Given the description of an element on the screen output the (x, y) to click on. 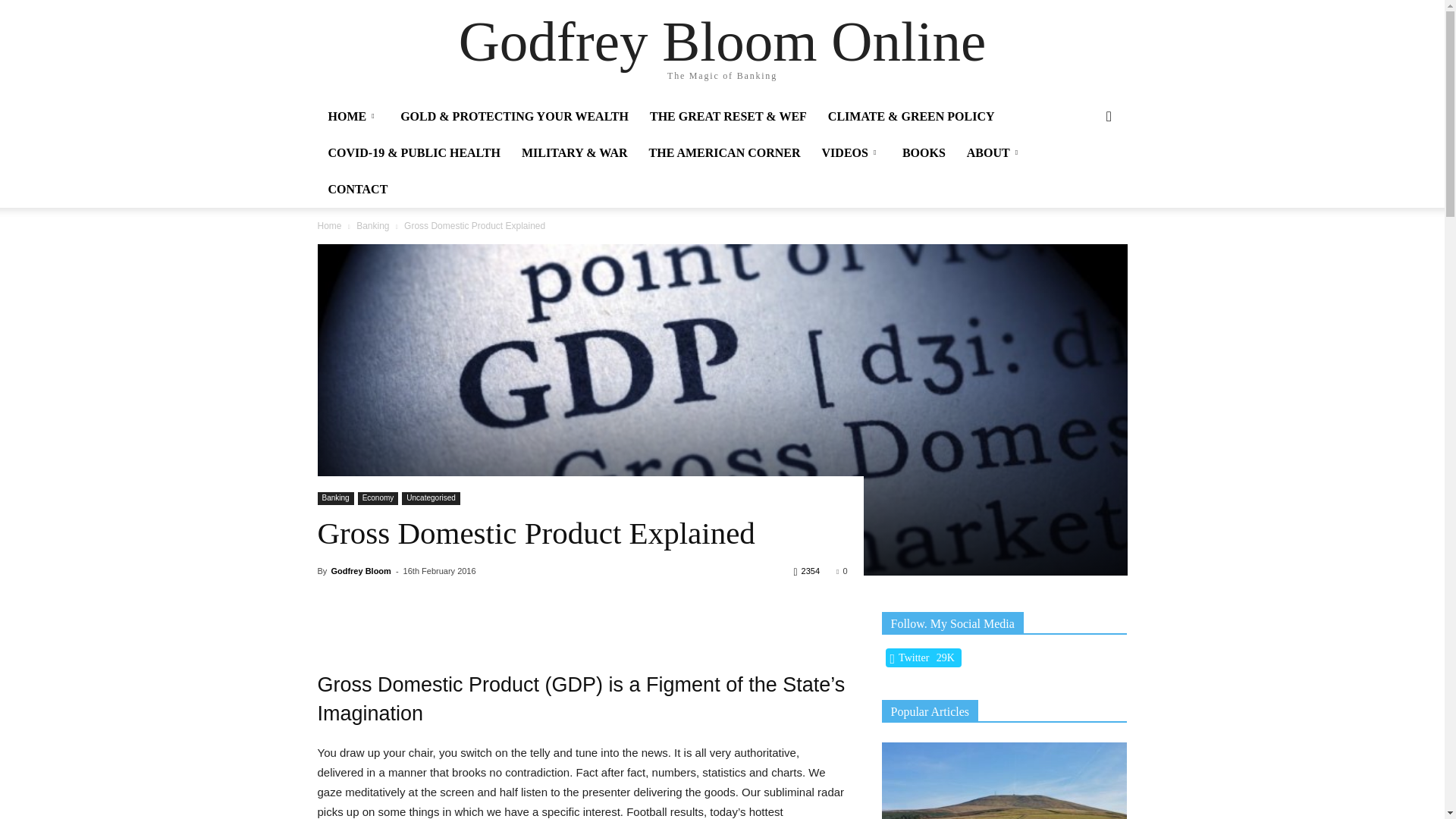
View all posts in Banking (372, 225)
VIDEOS (850, 153)
Godfrey Bloom Online The Magic of Banking (721, 50)
HOME (353, 116)
THE AMERICAN CORNER (724, 153)
How Can We Escape? (1003, 780)
